Given the description of an element on the screen output the (x, y) to click on. 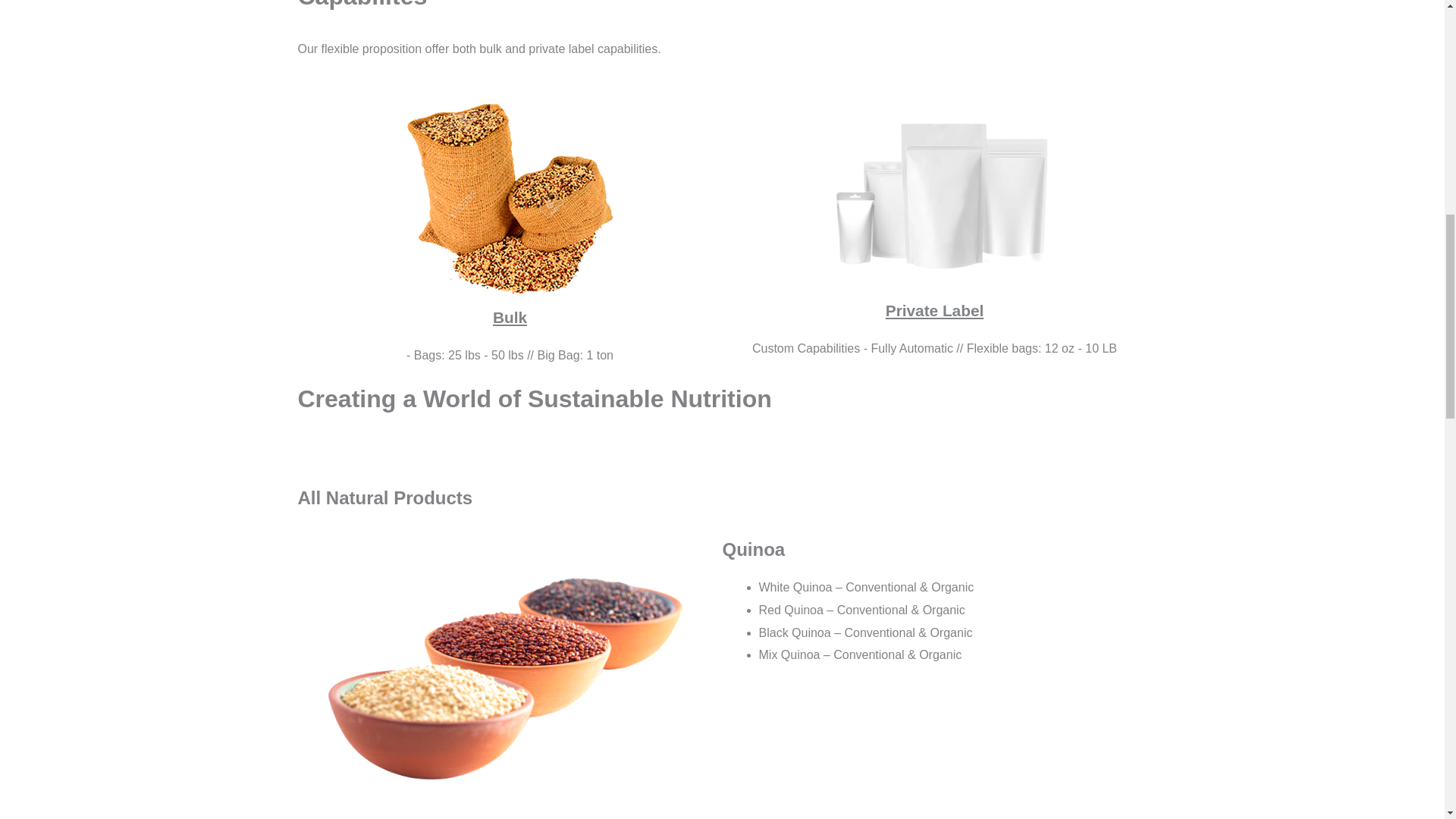
Private Label (934, 310)
Bulk (510, 316)
